Given the description of an element on the screen output the (x, y) to click on. 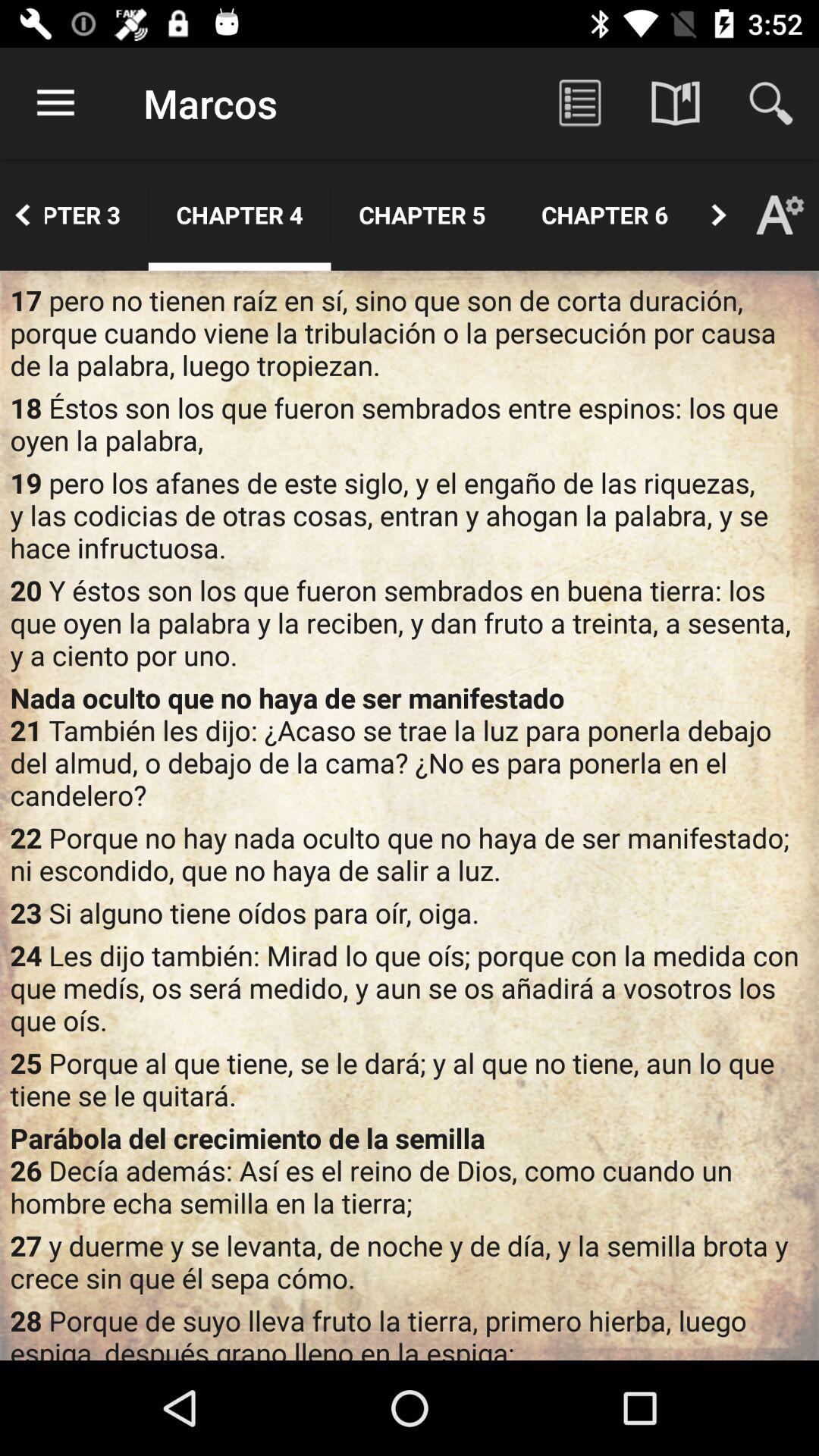
flip until the chapter 3 item (96, 214)
